Given the description of an element on the screen output the (x, y) to click on. 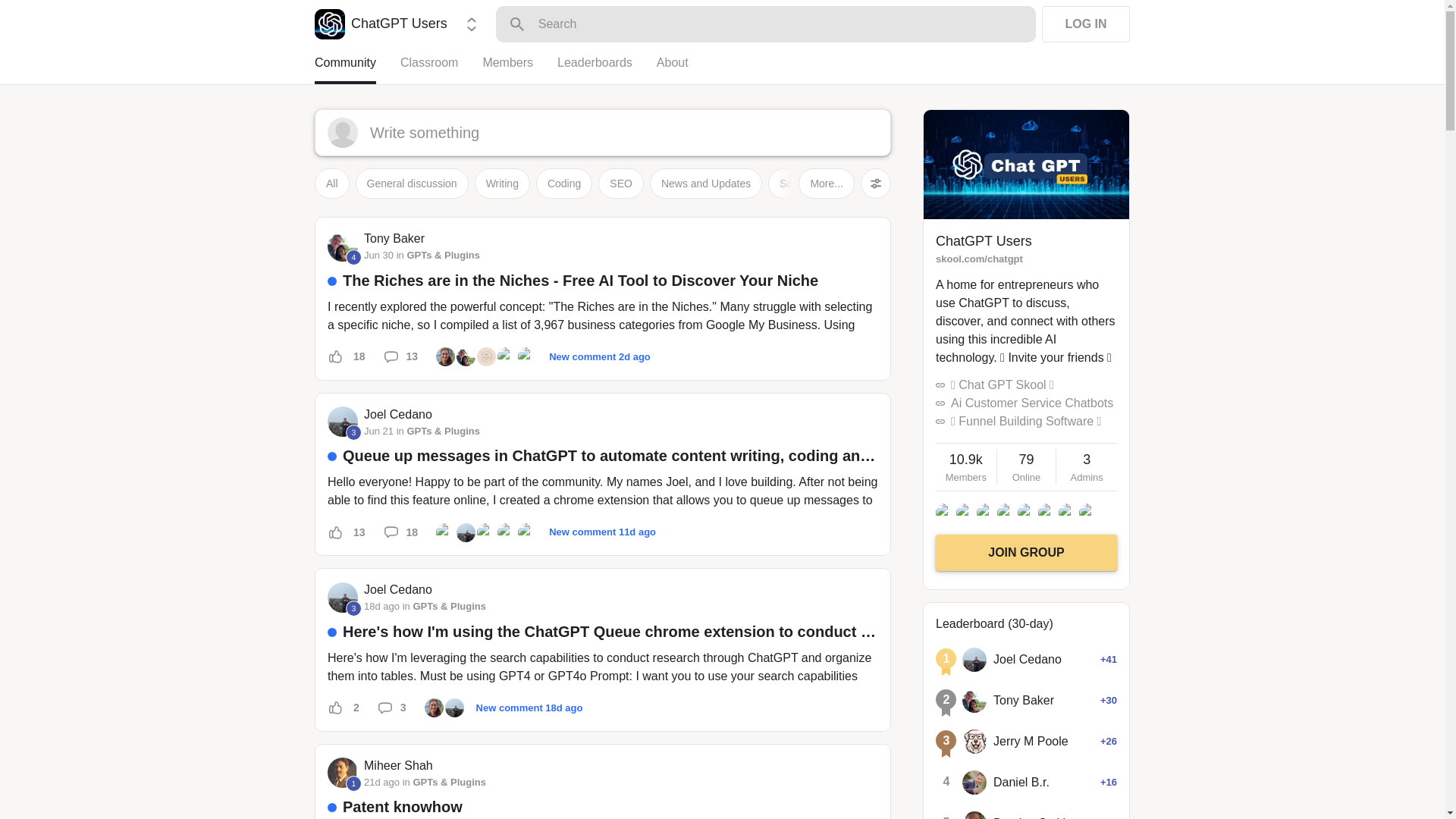
Tony Baker (394, 239)
All (331, 183)
Tony Baker (342, 245)
Ecom Moses (527, 356)
Community (357, 69)
Social Media (809, 183)
Julie Helmer (444, 356)
News and Updates (705, 183)
3 (353, 608)
Joel Cedano (342, 421)
